Given the description of an element on the screen output the (x, y) to click on. 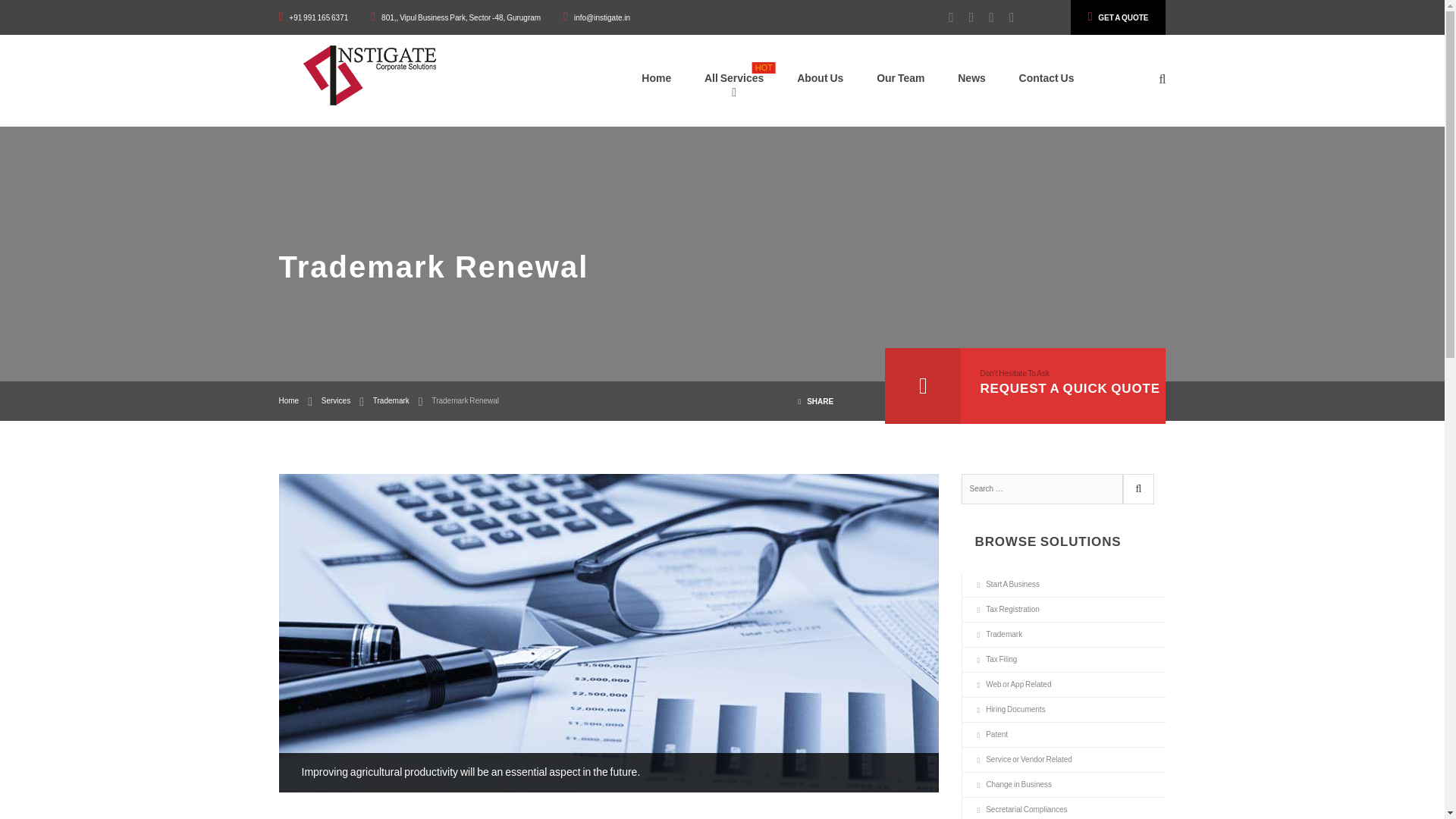
Vine (1004, 17)
Instagram (984, 17)
GET A QUOTE (1118, 17)
Twitter (963, 17)
Facebook (943, 17)
Search (1138, 489)
Search (1138, 489)
